Given the description of an element on the screen output the (x, y) to click on. 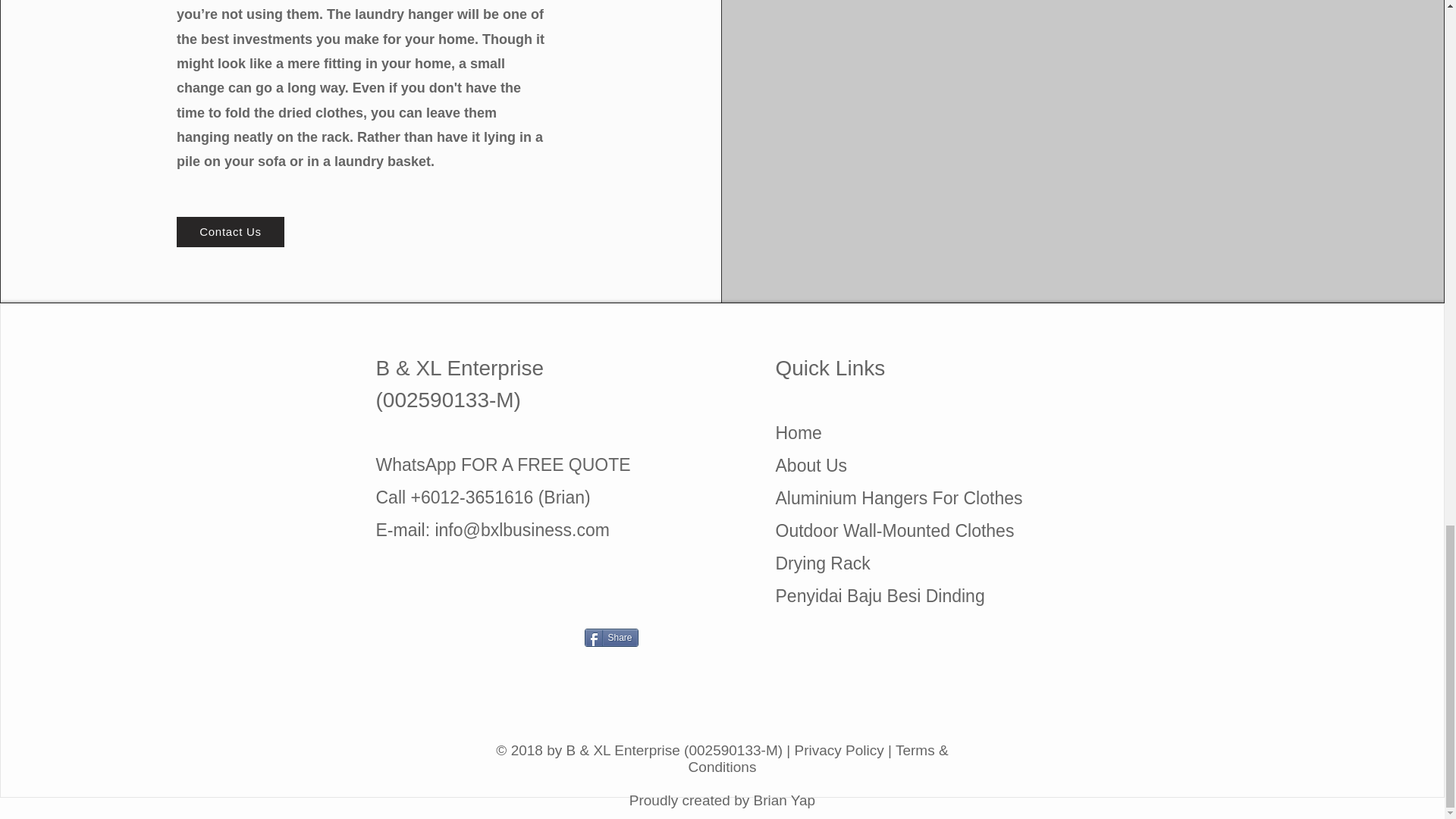
Penyidai Baju Besi (847, 596)
About Us (810, 465)
WhatsApp FOR A FREE QUOTE (502, 465)
Privacy Policy (838, 750)
Share (610, 637)
Share (610, 637)
Facebook Like (756, 643)
Dinding (952, 596)
Home (797, 433)
Aluminium Hangers For Clothes (898, 497)
